Given the description of an element on the screen output the (x, y) to click on. 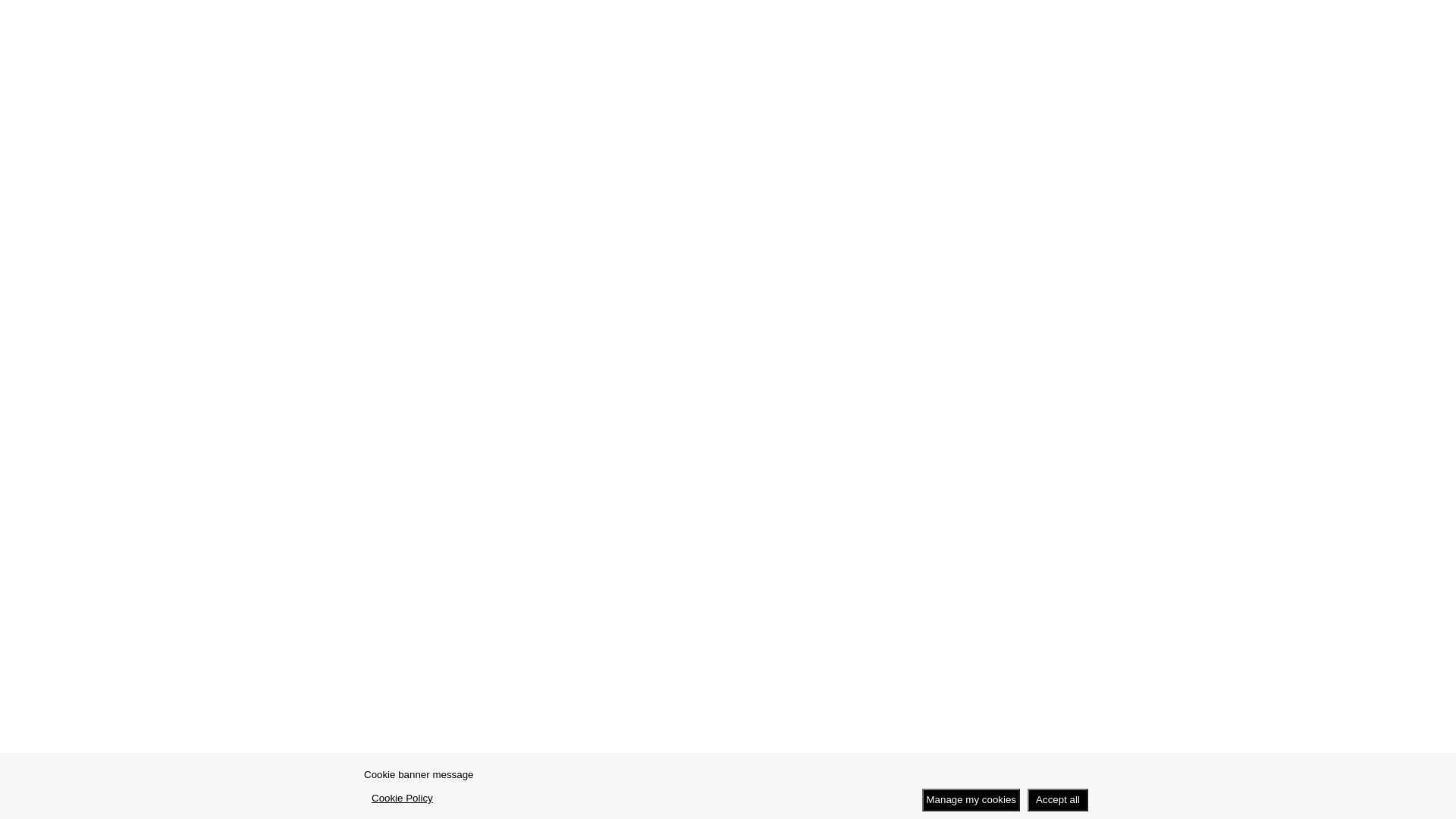
Manage my cookies Element type: text (970, 799)
Accept all Element type: text (1057, 799)
Cookie Policy Element type: text (402, 797)
